Given the description of an element on the screen output the (x, y) to click on. 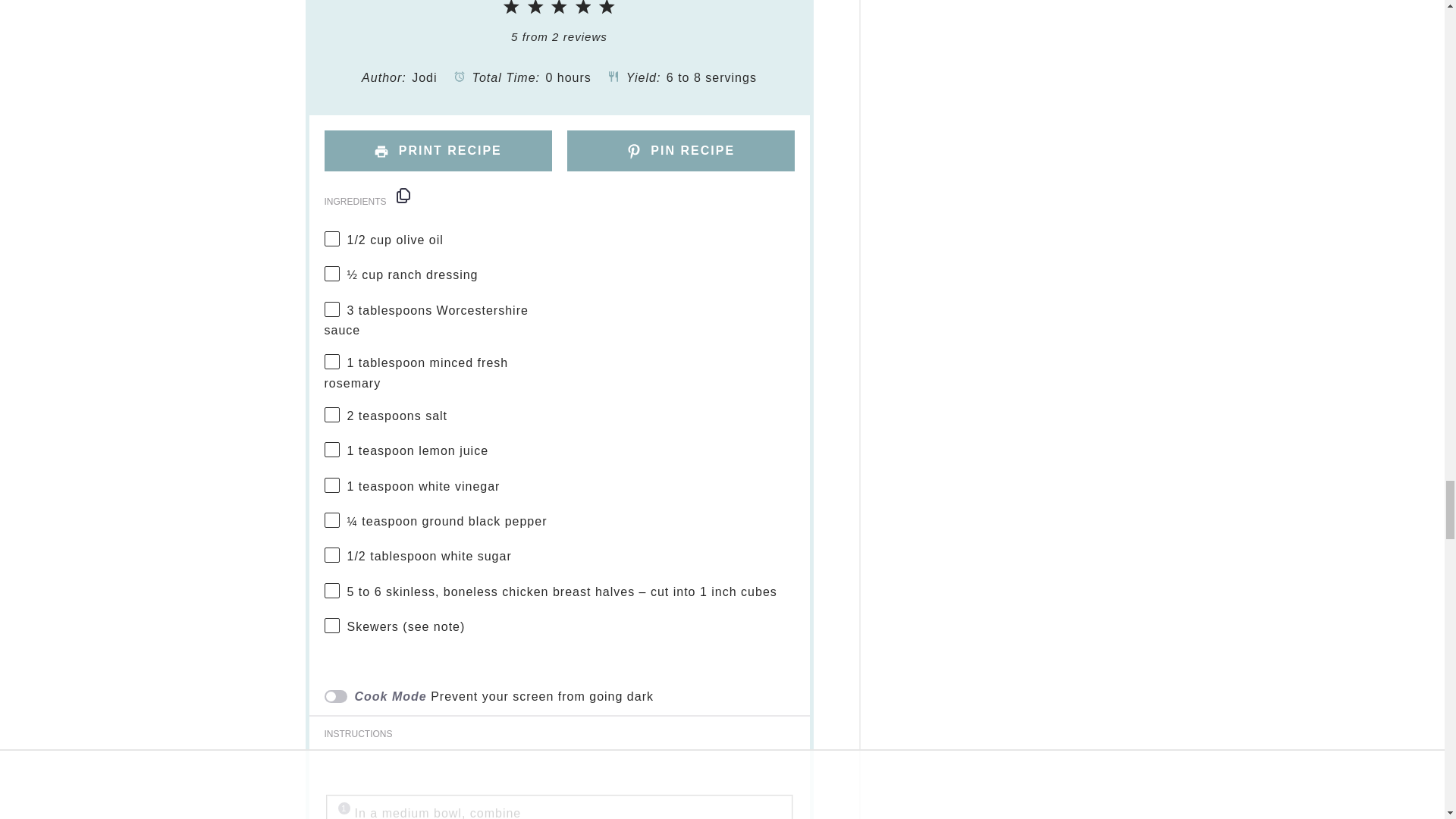
PRINT RECIPE (437, 150)
COPY TO CLIPBOARD COPY TO CLIPBOARD (403, 195)
PIN RECIPE (680, 150)
COPY TO CLIPBOARD COPY TO CLIPBOARD (403, 195)
